Given the description of an element on the screen output the (x, y) to click on. 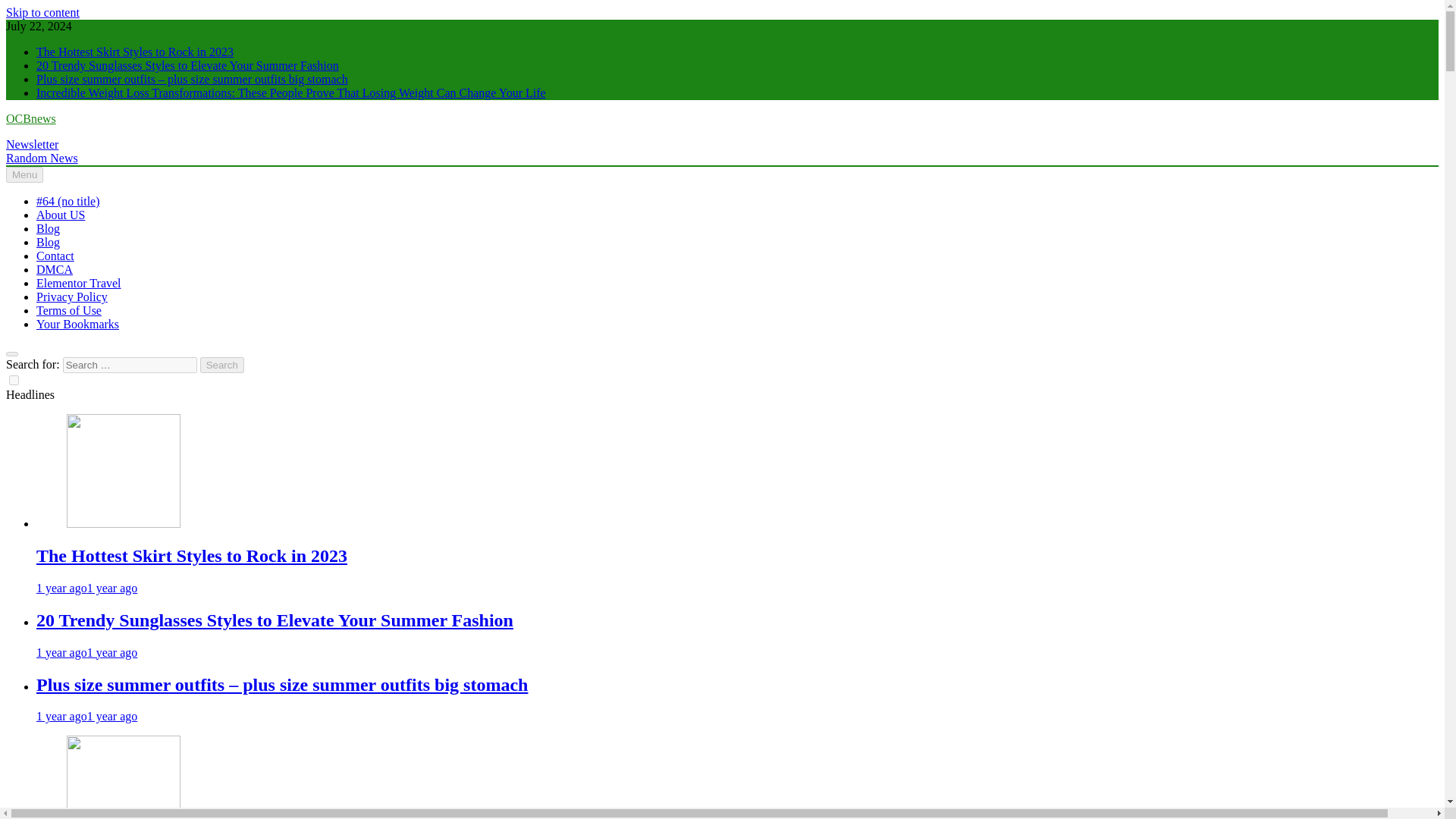
Blog (47, 228)
Search (222, 365)
1 year ago1 year ago (86, 652)
About US (60, 214)
OCBnews (30, 118)
Search (222, 365)
20 Trendy Sunglasses Styles to Elevate Your Summer Fashion (274, 619)
1 year ago1 year ago (86, 716)
The Hottest Skirt Styles to Rock in 2023 (191, 555)
Random News (41, 157)
The Hottest Skirt Styles to Rock in 2023 (123, 470)
Elementor Travel (78, 282)
Contact (55, 255)
Newsletter (31, 144)
